Given the description of an element on the screen output the (x, y) to click on. 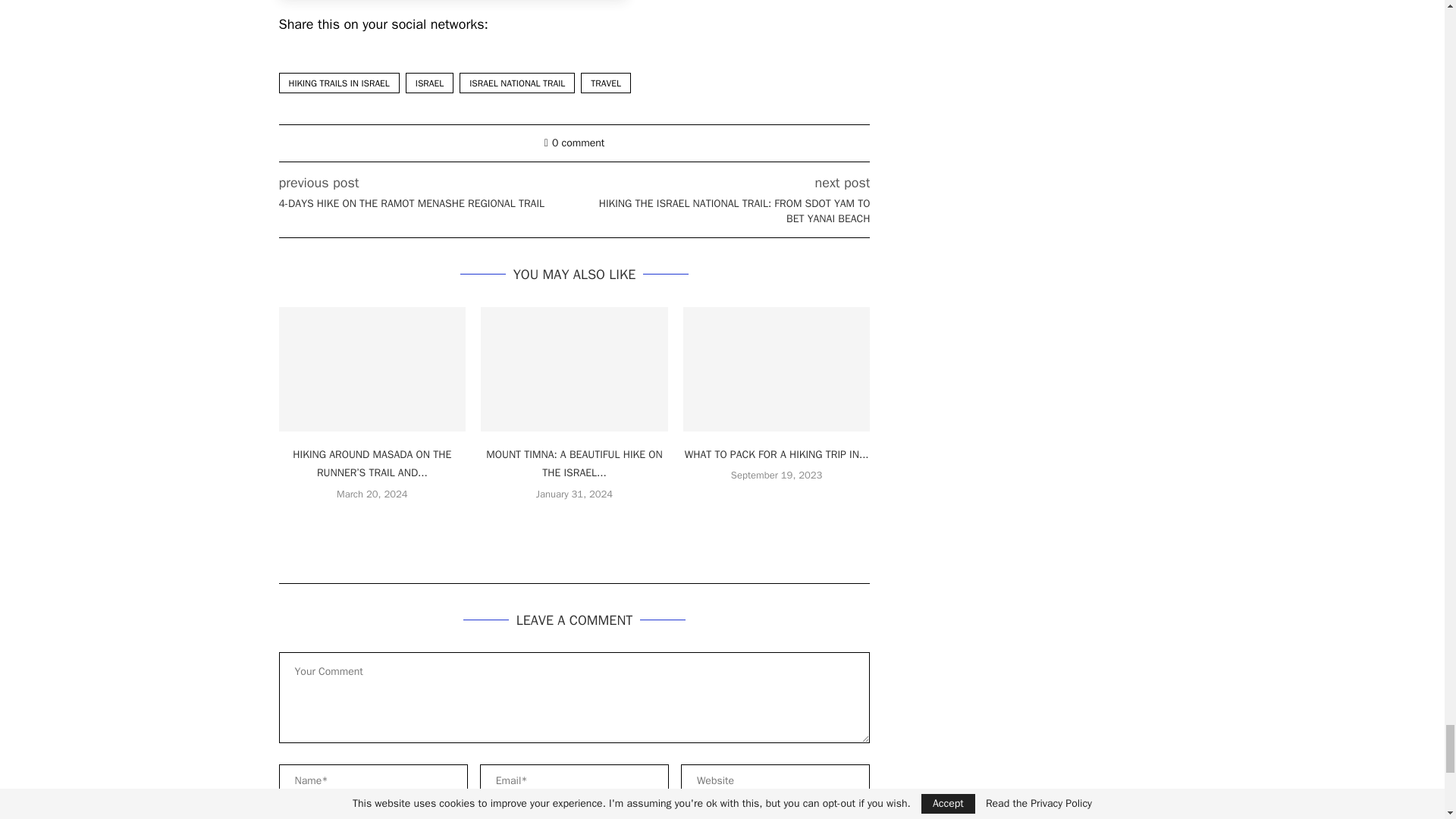
What to Pack for a Hiking Trip in Israel? (776, 369)
